Given the description of an element on the screen output the (x, y) to click on. 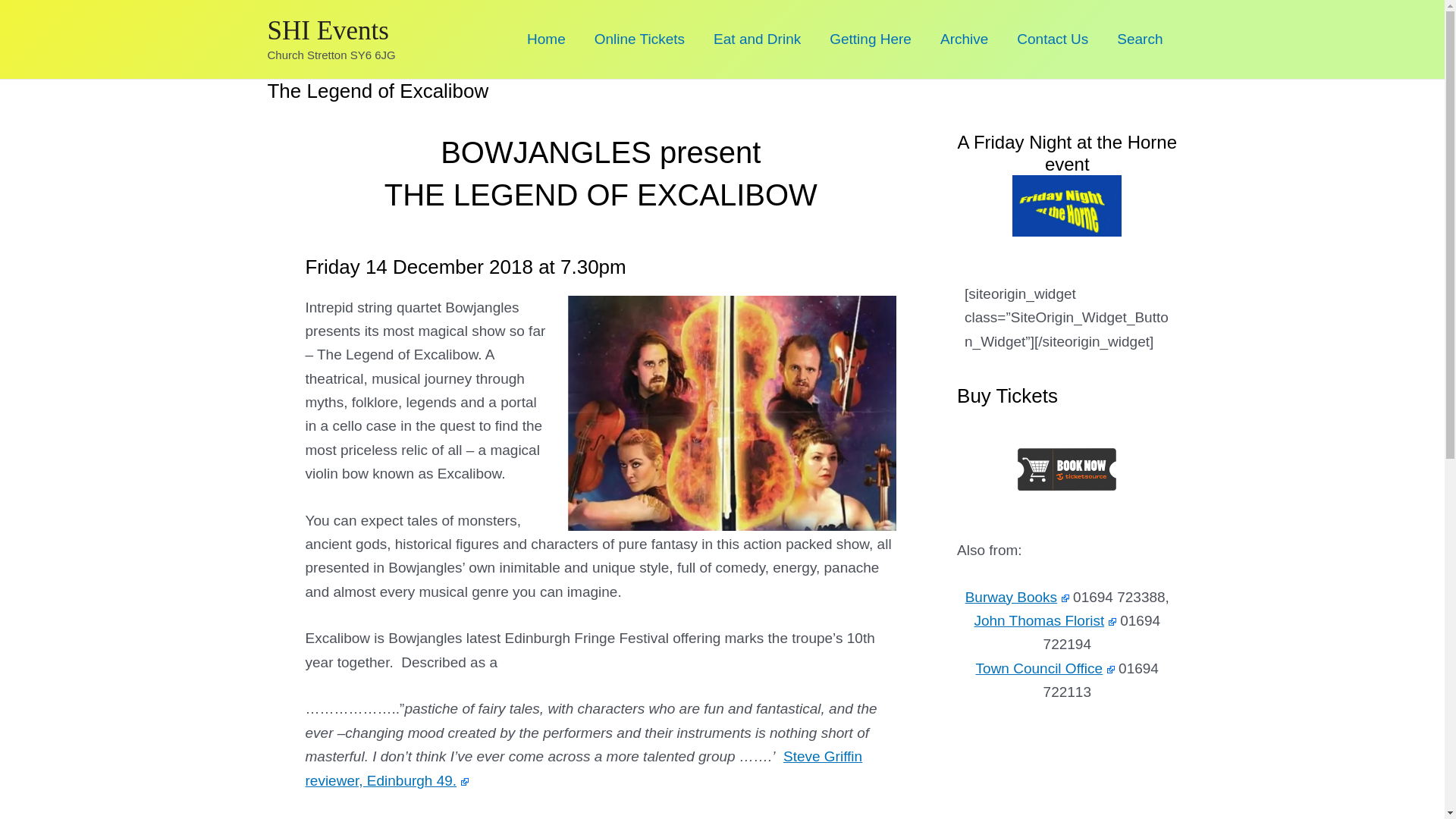
Contact Us (1052, 38)
Home (545, 38)
Archive (964, 38)
Online Tickets (638, 38)
Search (1139, 38)
Eat and Drink (756, 38)
SHI Events (327, 30)
Getting Here (870, 38)
